Given the description of an element on the screen output the (x, y) to click on. 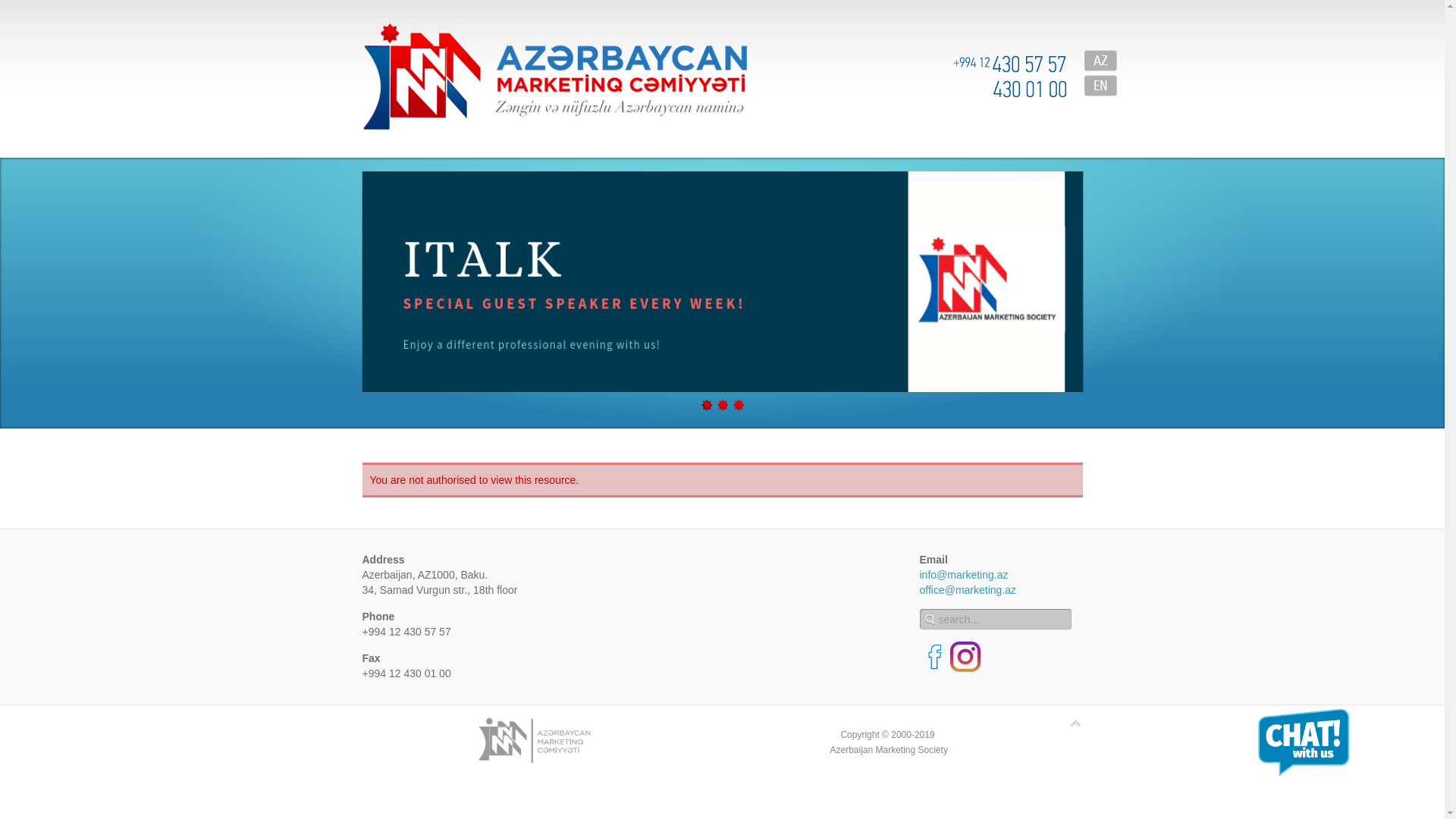
office@marketing.az Element type: text (967, 589)
AZ Element type: text (1100, 60)
info@marketing.az Element type: text (963, 574)
Reset Element type: text (3, 3)
EN Element type: text (1100, 85)
